Given the description of an element on the screen output the (x, y) to click on. 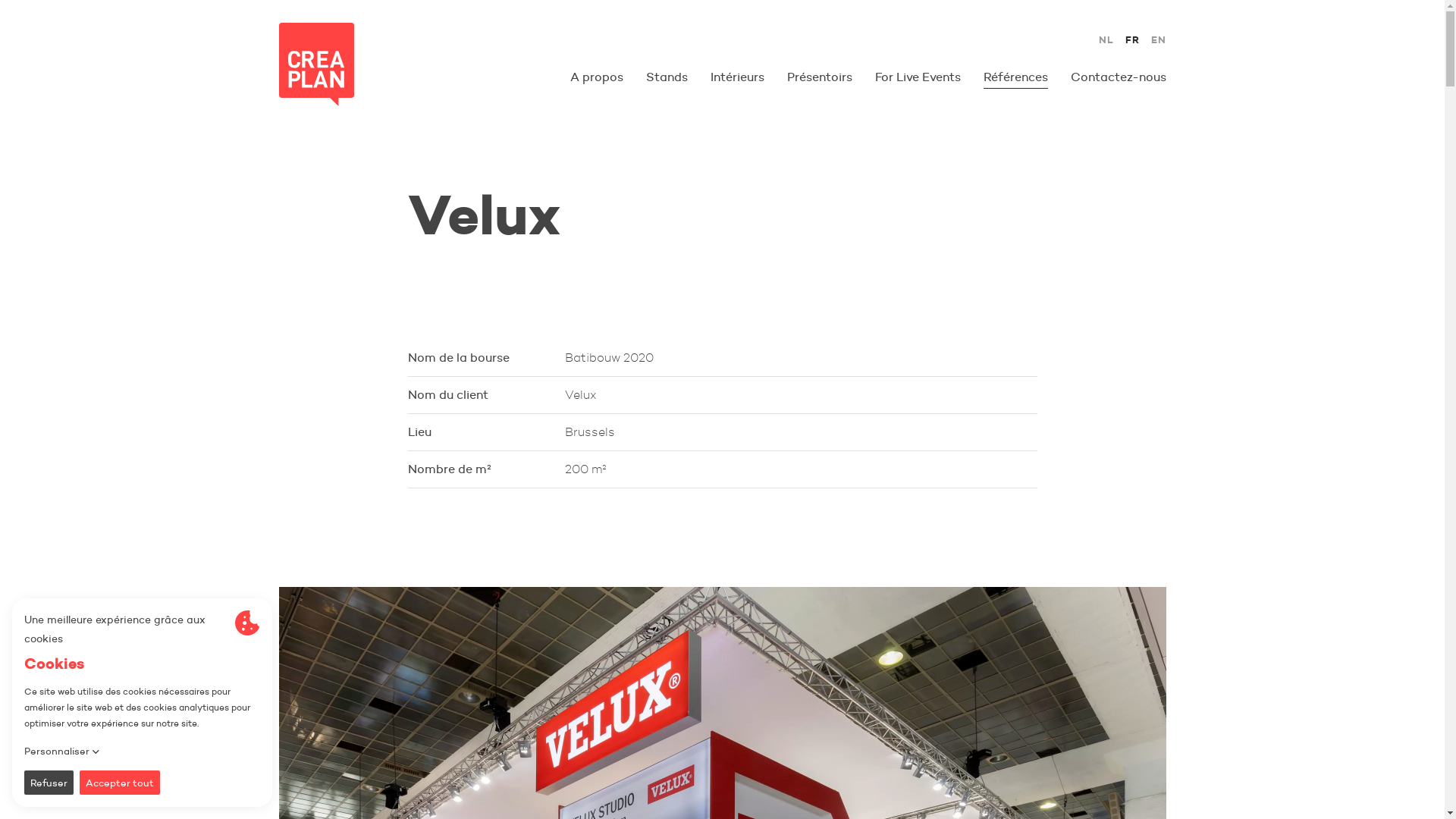
Contactez-nous Element type: text (1118, 76)
For Live Events Element type: text (917, 76)
Stands Element type: text (666, 76)
EN Element type: text (1158, 40)
A propos Element type: text (596, 76)
Creaplan nv Element type: text (316, 64)
NL Element type: text (1105, 40)
FR Element type: text (1132, 40)
